Given the description of an element on the screen output the (x, y) to click on. 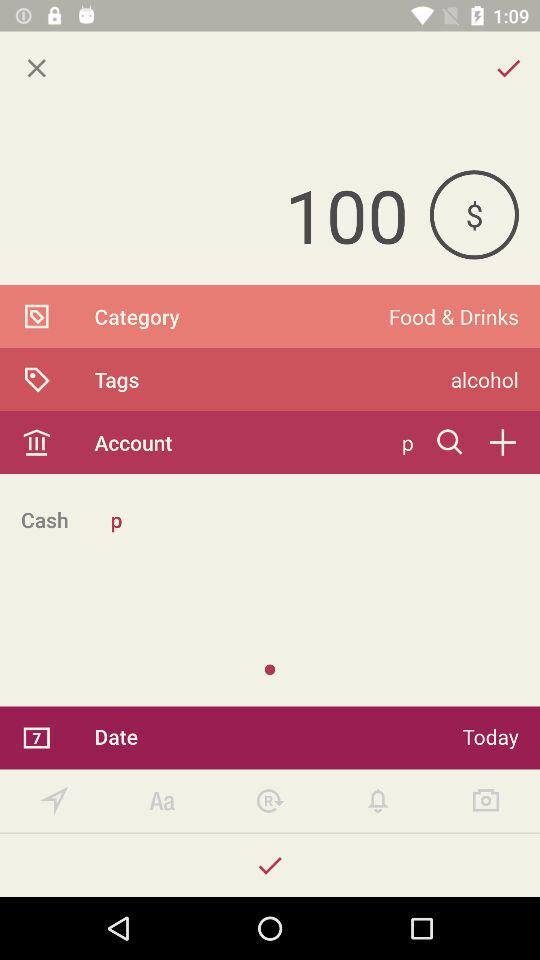
swipe until 100 (214, 214)
